Given the description of an element on the screen output the (x, y) to click on. 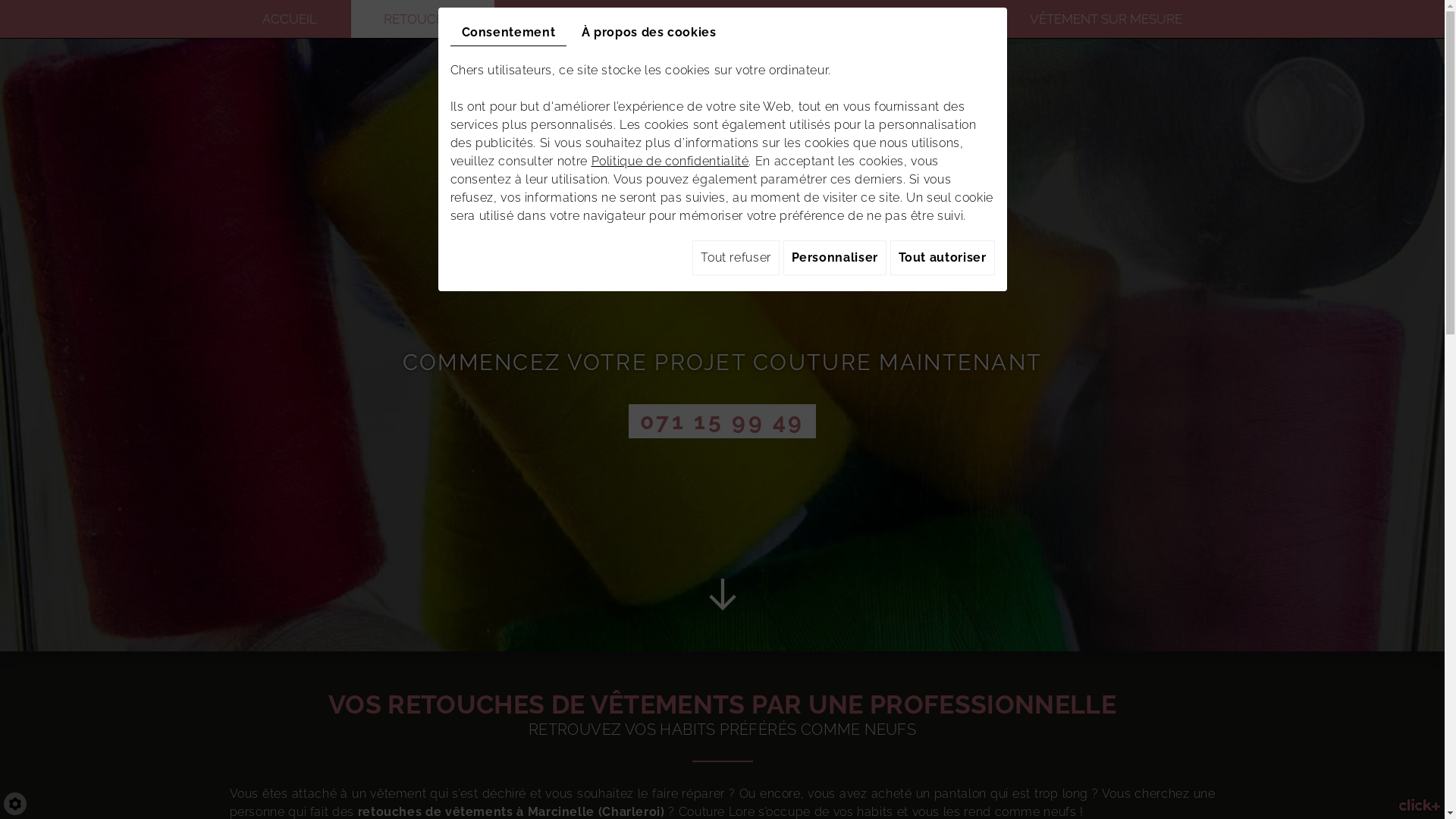
071 15 99 49 Element type: text (722, 420)
Tout refuser Element type: text (735, 257)
TRANSFORMATION Element type: text (586, 18)
Tout autoriser Element type: text (942, 257)
COMMENCEZ VOTRE PROJET COUTURE MAINTENANT Element type: text (721, 362)
Consentement Element type: text (508, 32)
RETOUCHES Element type: text (422, 18)
Personnaliser Element type: text (834, 257)
ACCUEIL Element type: text (289, 18)
